Given the description of an element on the screen output the (x, y) to click on. 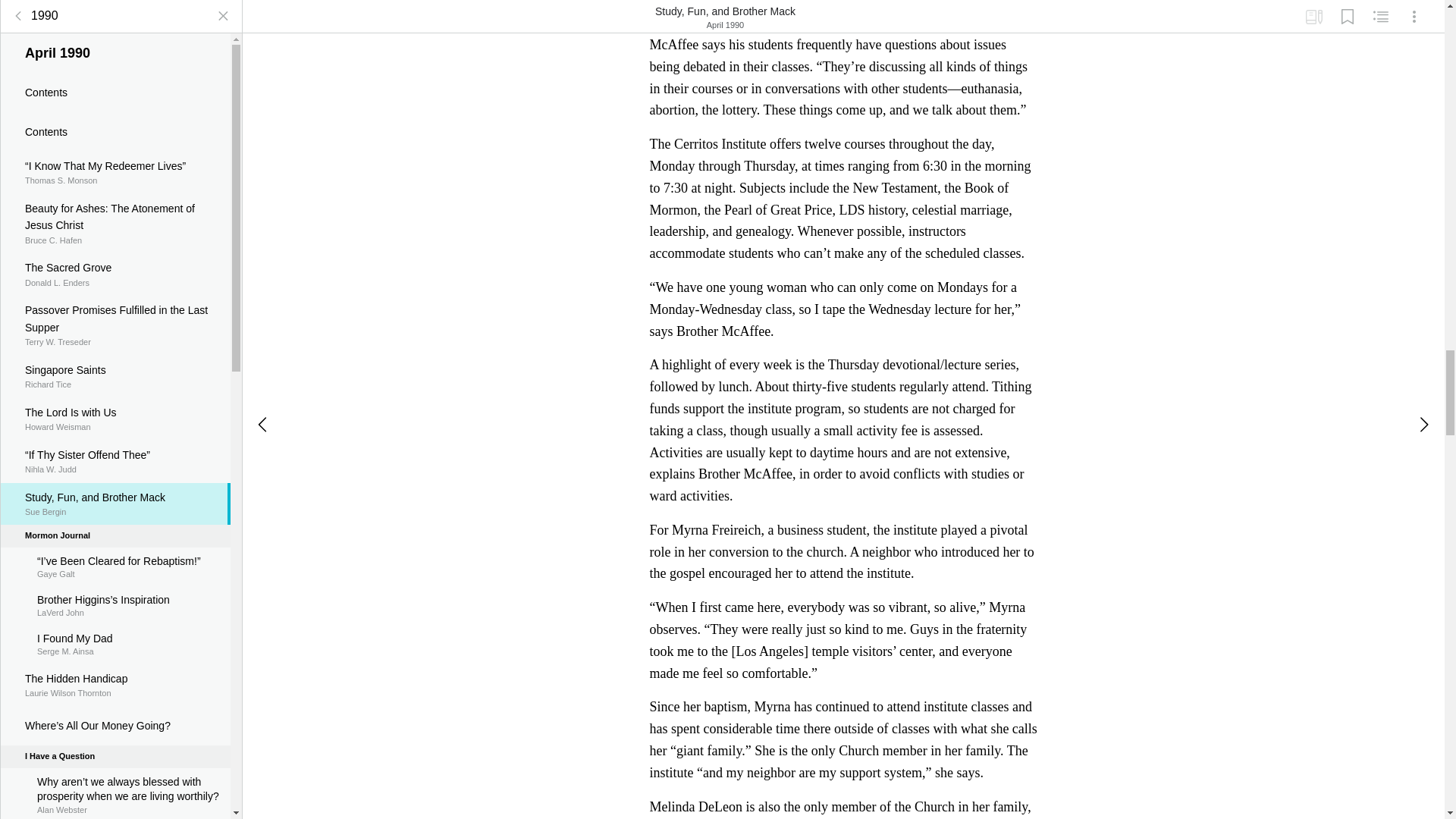
A Conversation about Adopting a Child (115, 207)
Alberta Temple to Reopen; London, Swiss to be Remodeled (115, 45)
Church Museum Announces Art Competition (115, 173)
Typhoon Hits Three Islands (115, 131)
